Given the description of an element on the screen output the (x, y) to click on. 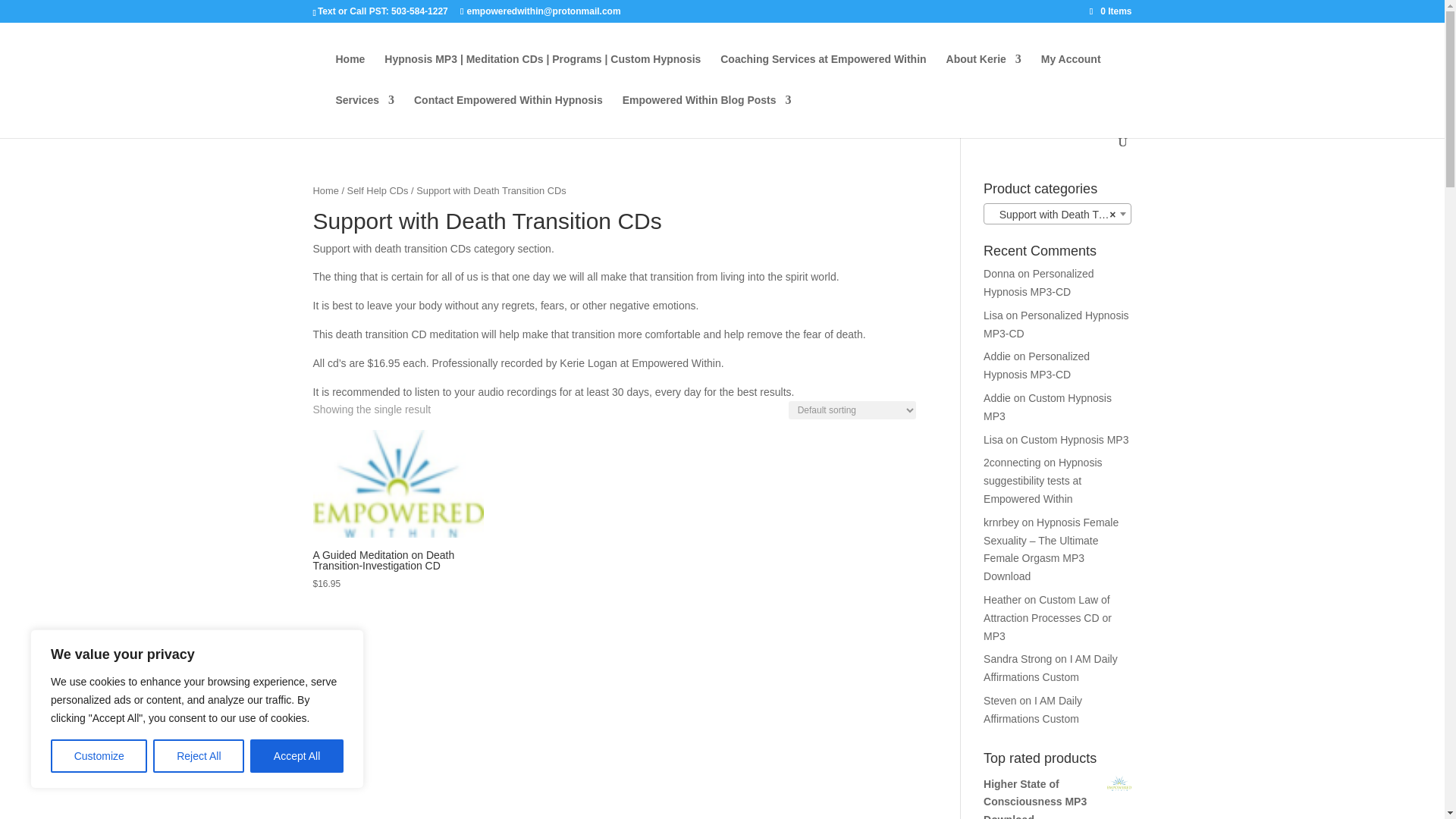
Services (364, 115)
Empowered Within Blog Posts (707, 115)
Coaching Services at Empowered Within (823, 74)
0 Items (1110, 10)
My Account (1070, 74)
Accept All (296, 756)
Reject All (198, 756)
Contact Empowered Within Hypnosis (507, 115)
About Kerie (984, 74)
Customize (98, 756)
About Us (984, 74)
